Given the description of an element on the screen output the (x, y) to click on. 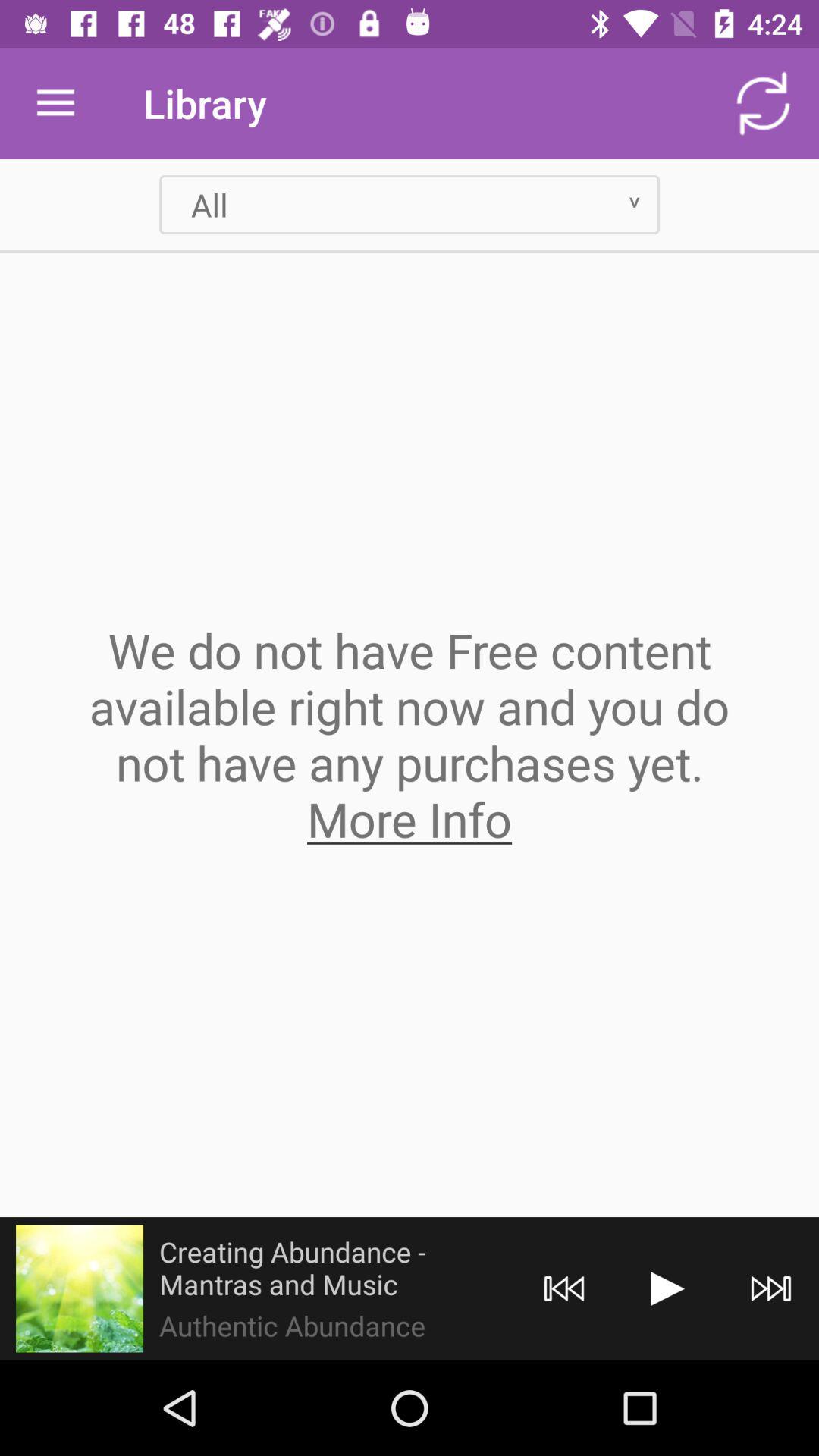
jump to the we do not (409, 734)
